Given the description of an element on the screen output the (x, y) to click on. 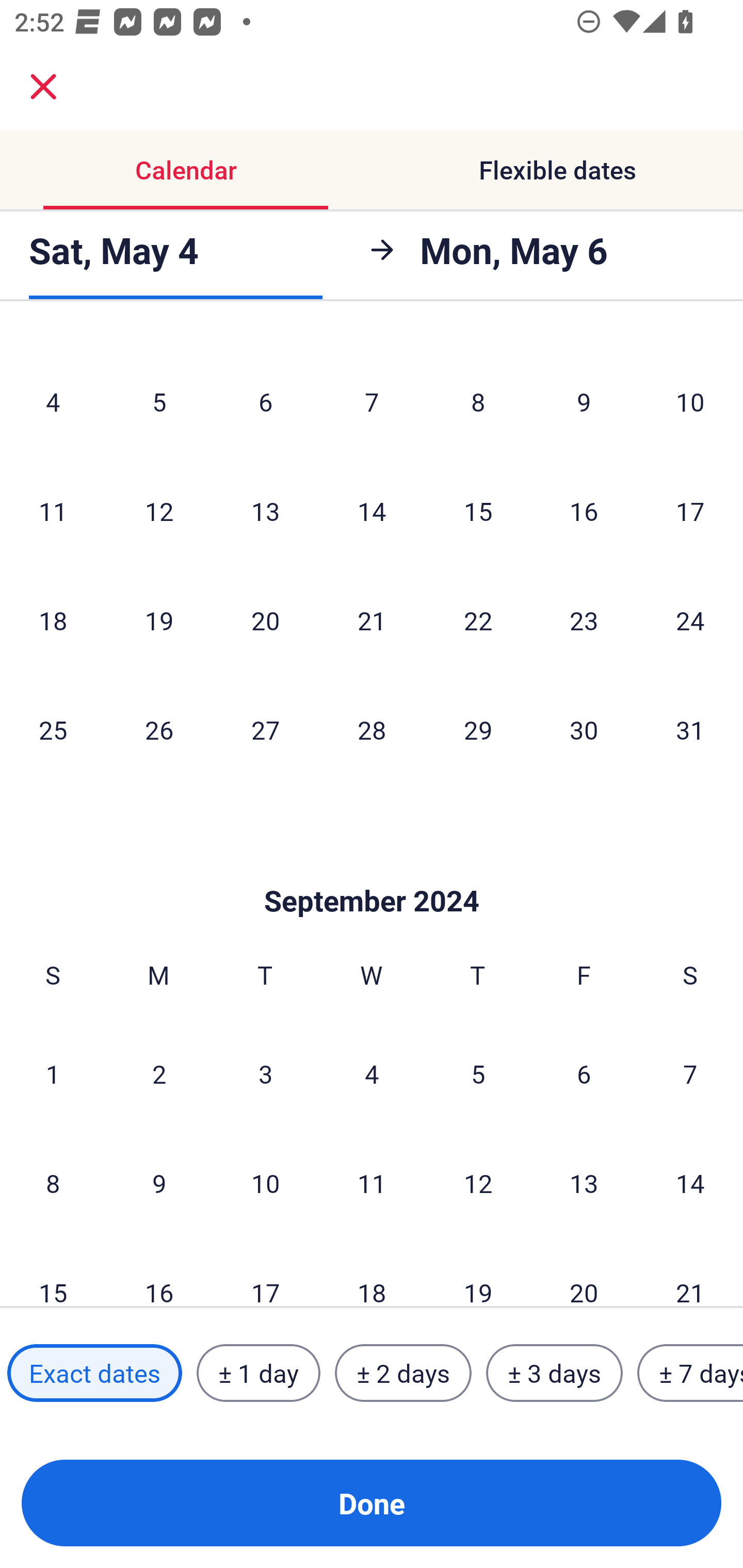
close. (43, 86)
Flexible dates (557, 170)
4 Sunday, August 4, 2024 (53, 401)
5 Monday, August 5, 2024 (159, 401)
6 Tuesday, August 6, 2024 (265, 401)
7 Wednesday, August 7, 2024 (371, 401)
8 Thursday, August 8, 2024 (477, 401)
9 Friday, August 9, 2024 (584, 401)
10 Saturday, August 10, 2024 (690, 401)
11 Sunday, August 11, 2024 (53, 510)
12 Monday, August 12, 2024 (159, 510)
13 Tuesday, August 13, 2024 (265, 510)
14 Wednesday, August 14, 2024 (371, 510)
15 Thursday, August 15, 2024 (477, 510)
16 Friday, August 16, 2024 (584, 510)
17 Saturday, August 17, 2024 (690, 510)
18 Sunday, August 18, 2024 (53, 619)
19 Monday, August 19, 2024 (159, 619)
20 Tuesday, August 20, 2024 (265, 619)
21 Wednesday, August 21, 2024 (371, 619)
22 Thursday, August 22, 2024 (477, 619)
23 Friday, August 23, 2024 (584, 619)
24 Saturday, August 24, 2024 (690, 619)
25 Sunday, August 25, 2024 (53, 729)
26 Monday, August 26, 2024 (159, 729)
27 Tuesday, August 27, 2024 (265, 729)
28 Wednesday, August 28, 2024 (371, 729)
29 Thursday, August 29, 2024 (477, 729)
30 Friday, August 30, 2024 (584, 729)
31 Saturday, August 31, 2024 (690, 729)
Skip to Done (371, 870)
1 Sunday, September 1, 2024 (53, 1072)
2 Monday, September 2, 2024 (159, 1072)
3 Tuesday, September 3, 2024 (265, 1072)
4 Wednesday, September 4, 2024 (371, 1072)
5 Thursday, September 5, 2024 (477, 1072)
6 Friday, September 6, 2024 (584, 1072)
7 Saturday, September 7, 2024 (690, 1072)
8 Sunday, September 8, 2024 (53, 1182)
9 Monday, September 9, 2024 (159, 1182)
10 Tuesday, September 10, 2024 (265, 1182)
11 Wednesday, September 11, 2024 (371, 1182)
12 Thursday, September 12, 2024 (477, 1182)
13 Friday, September 13, 2024 (584, 1182)
14 Saturday, September 14, 2024 (690, 1182)
15 Sunday, September 15, 2024 (53, 1272)
16 Monday, September 16, 2024 (159, 1272)
17 Tuesday, September 17, 2024 (265, 1272)
18 Wednesday, September 18, 2024 (371, 1272)
19 Thursday, September 19, 2024 (477, 1272)
20 Friday, September 20, 2024 (584, 1272)
21 Saturday, September 21, 2024 (690, 1272)
Exact dates (94, 1372)
± 1 day (258, 1372)
± 2 days (403, 1372)
± 3 days (553, 1372)
± 7 days (690, 1372)
Done (371, 1502)
